Given the description of an element on the screen output the (x, y) to click on. 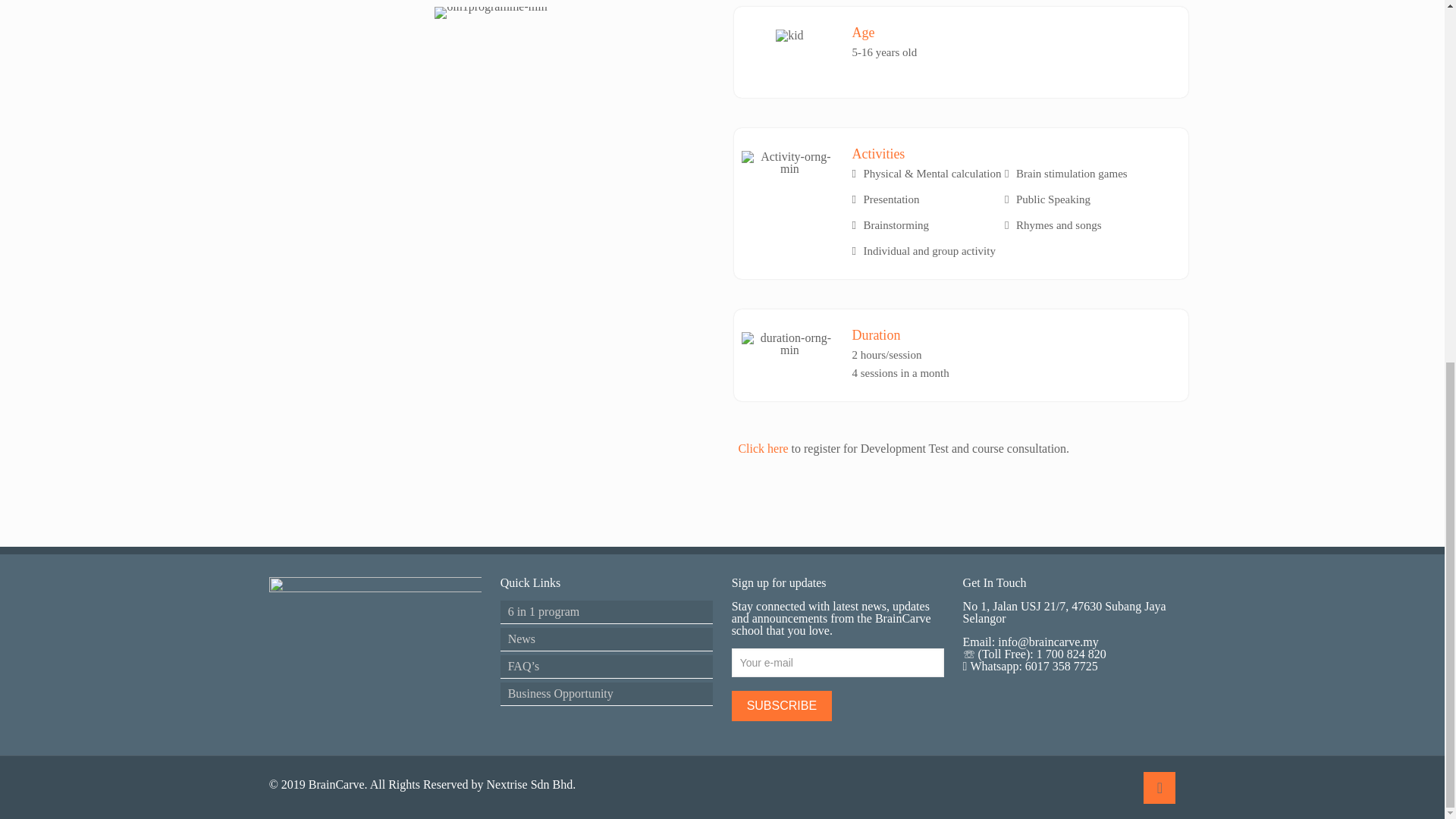
6017 358 7725 (1059, 666)
SUBSCRIBE (781, 706)
Click here (764, 448)
SUBSCRIBE (781, 706)
6 in 1 program (606, 612)
News (606, 639)
6in1programme-min (490, 12)
Business Opportunity (606, 693)
1 700 824 820 (1071, 653)
